Given the description of an element on the screen output the (x, y) to click on. 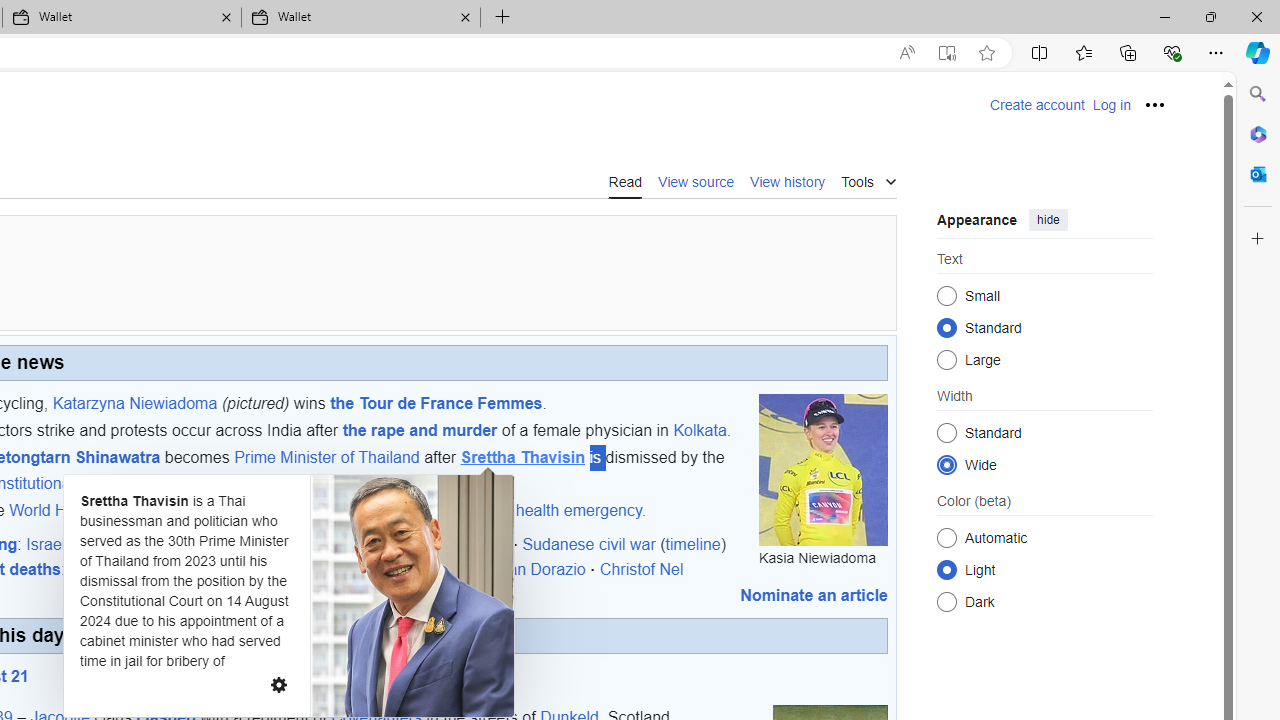
Srettha Thavisin (522, 458)
Personal tools (1155, 104)
Christof Nel (641, 569)
Christof Nel (641, 569)
Large (946, 359)
Nominate an article (813, 595)
Dan Dorazio (541, 569)
timeline (692, 543)
Wide (946, 464)
John Lansing (434, 569)
